Given the description of an element on the screen output the (x, y) to click on. 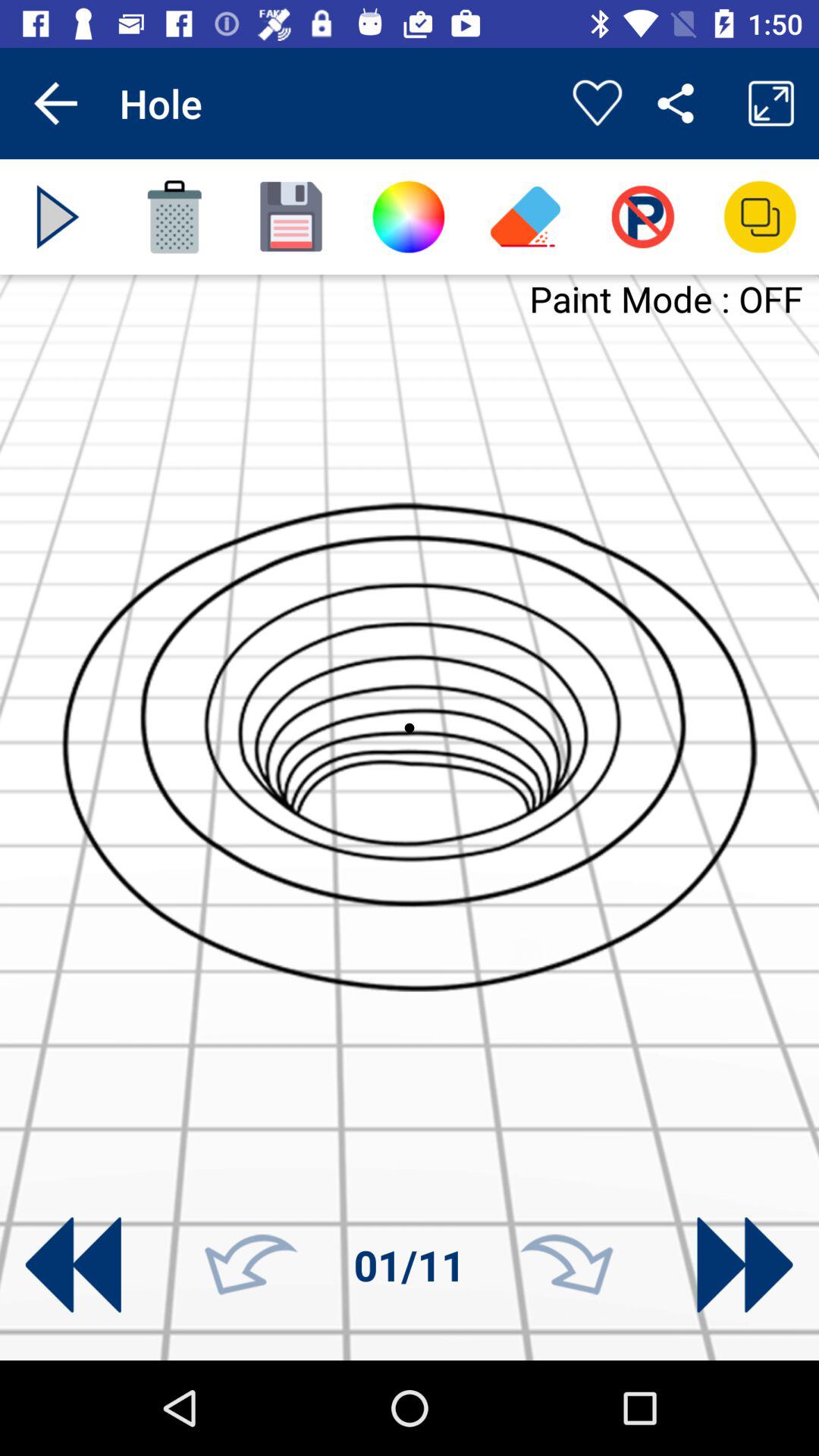
add to favorite (597, 102)
